Given the description of an element on the screen output the (x, y) to click on. 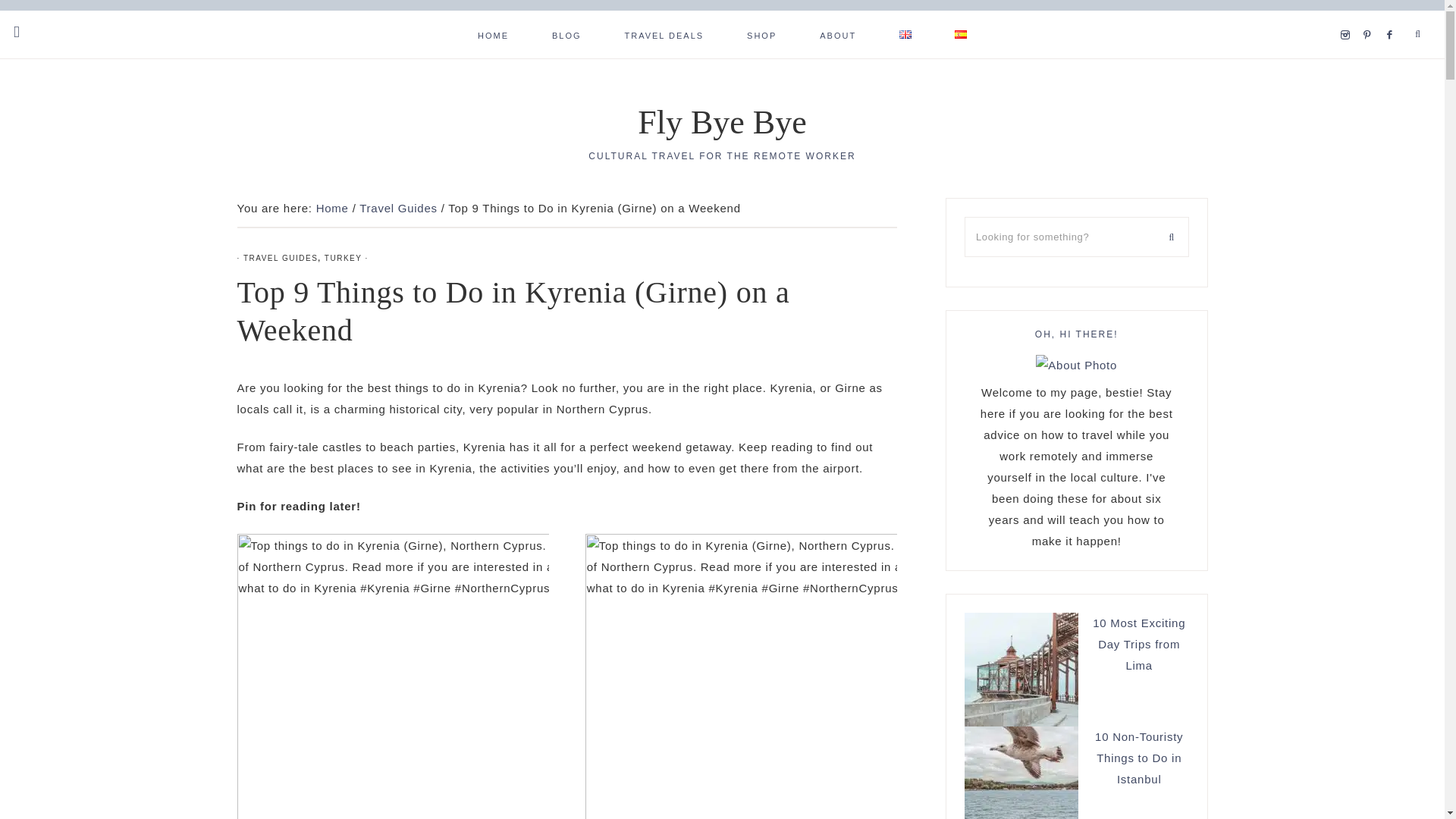
HOME (493, 34)
Travel Guides (398, 207)
Fly Bye Bye (721, 122)
SHOP (761, 34)
ABOUT (837, 34)
Facebook (1393, 15)
Home (332, 207)
BLOG (566, 34)
TRAVEL DEALS (663, 34)
TURKEY (342, 257)
